Given the description of an element on the screen output the (x, y) to click on. 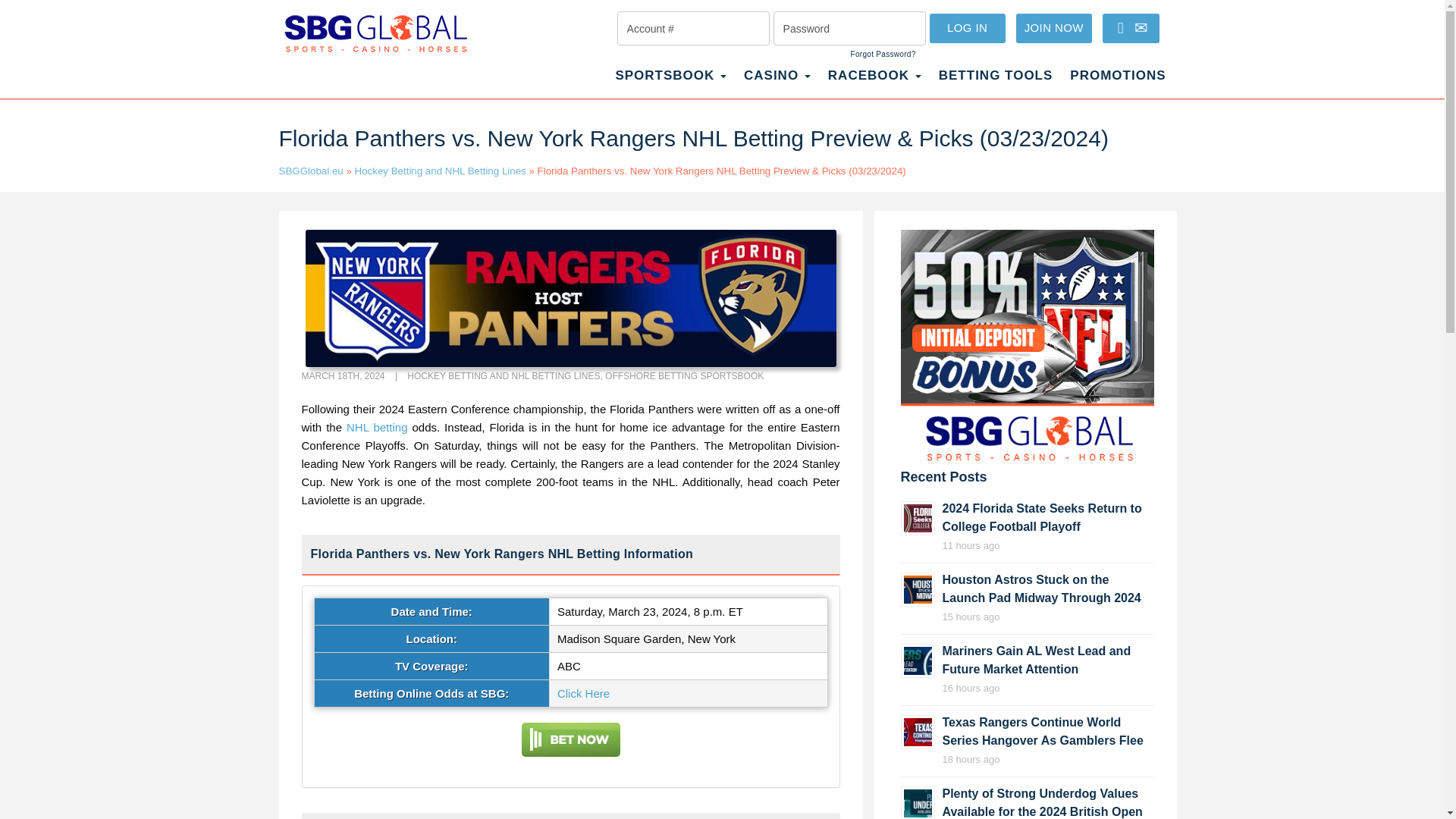
LOG IN (968, 28)
Forgot Password? (882, 53)
JOIN NOW (1054, 28)
Sportsbook (670, 83)
SPORTSBOOK (670, 83)
